Given the description of an element on the screen output the (x, y) to click on. 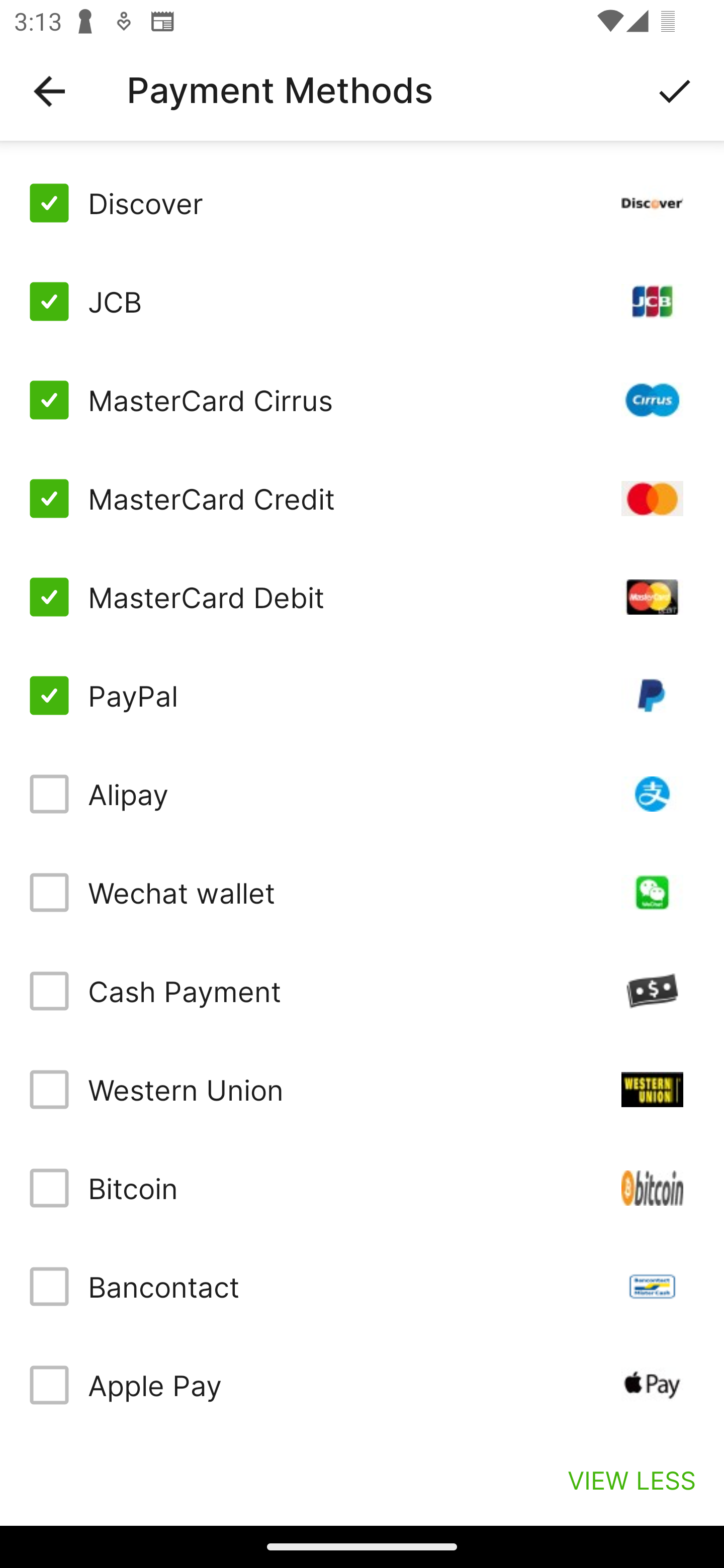
Discover (362, 202)
JCB (362, 301)
MasterCard Cirrus (362, 400)
MasterCard Credit (362, 498)
MasterCard Debit (362, 596)
PayPal (362, 695)
Alipay (362, 793)
Wechat wallet (362, 892)
Cash Payment (362, 990)
Western Union (362, 1088)
Bitcoin (362, 1187)
Bancontact (362, 1286)
Apple Pay (362, 1384)
VIEW LESS (631, 1479)
